Given the description of an element on the screen output the (x, y) to click on. 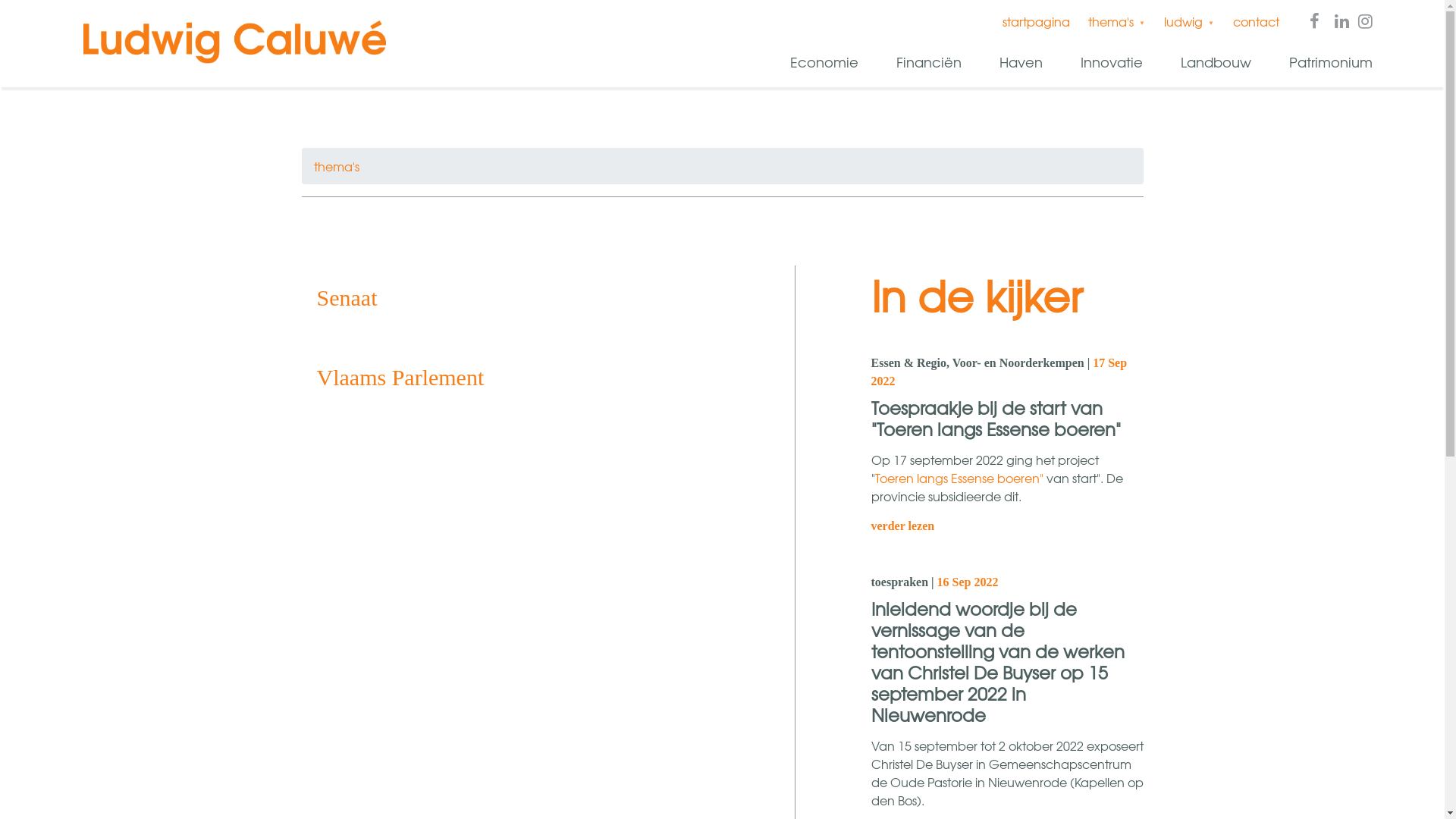
thema's Element type: text (336, 165)
Haven Element type: text (1018, 62)
Toeren langs Essense boeren" Element type: text (959, 477)
startpagina Element type: text (1036, 21)
Patrimonium Element type: text (1327, 62)
contact Element type: text (1255, 21)
Innovatie Element type: text (1108, 62)
Economie Element type: text (821, 62)
Vlaams Parlement Element type: text (509, 377)
verder lezen Element type: text (902, 525)
Senaat Element type: text (509, 297)
Landbouw Element type: text (1213, 62)
Overslaan en naar de inhoud gaan Element type: text (0, 0)
